Given the description of an element on the screen output the (x, y) to click on. 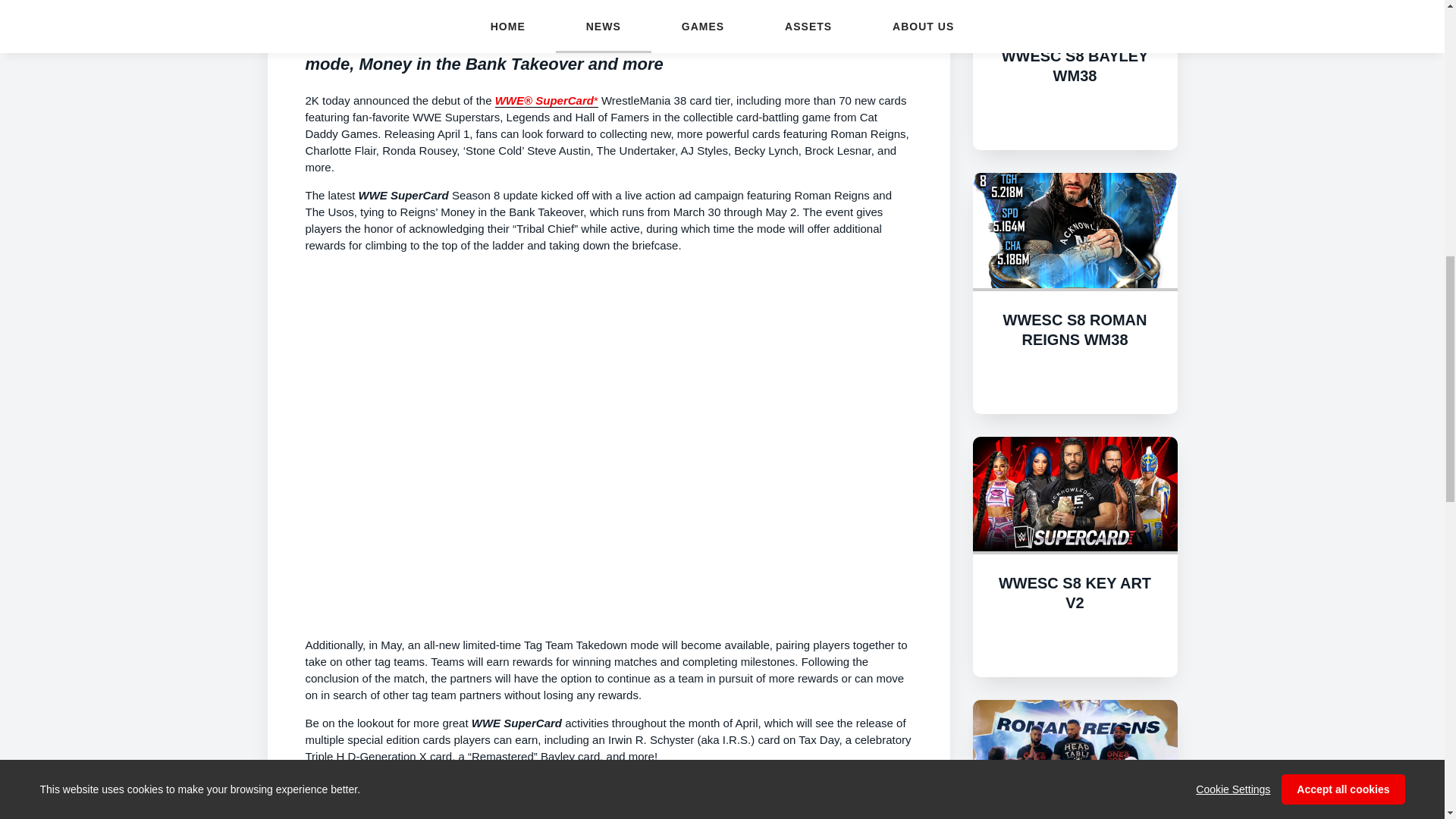
Instagram (632, 801)
WWESC S8 KEY ART V2 (1074, 592)
Facebook (417, 801)
WWESuperCard.com (811, 784)
DOWNLOAD (1074, 115)
DOWNLOAD (1074, 643)
WWESC S8 ROMAN REIGNS WM38 (1075, 329)
WWESC S8 BAYLEY WM38 (1074, 65)
DOWNLOAD (1074, 378)
Twitter (563, 801)
YouTube (763, 801)
